Given the description of an element on the screen output the (x, y) to click on. 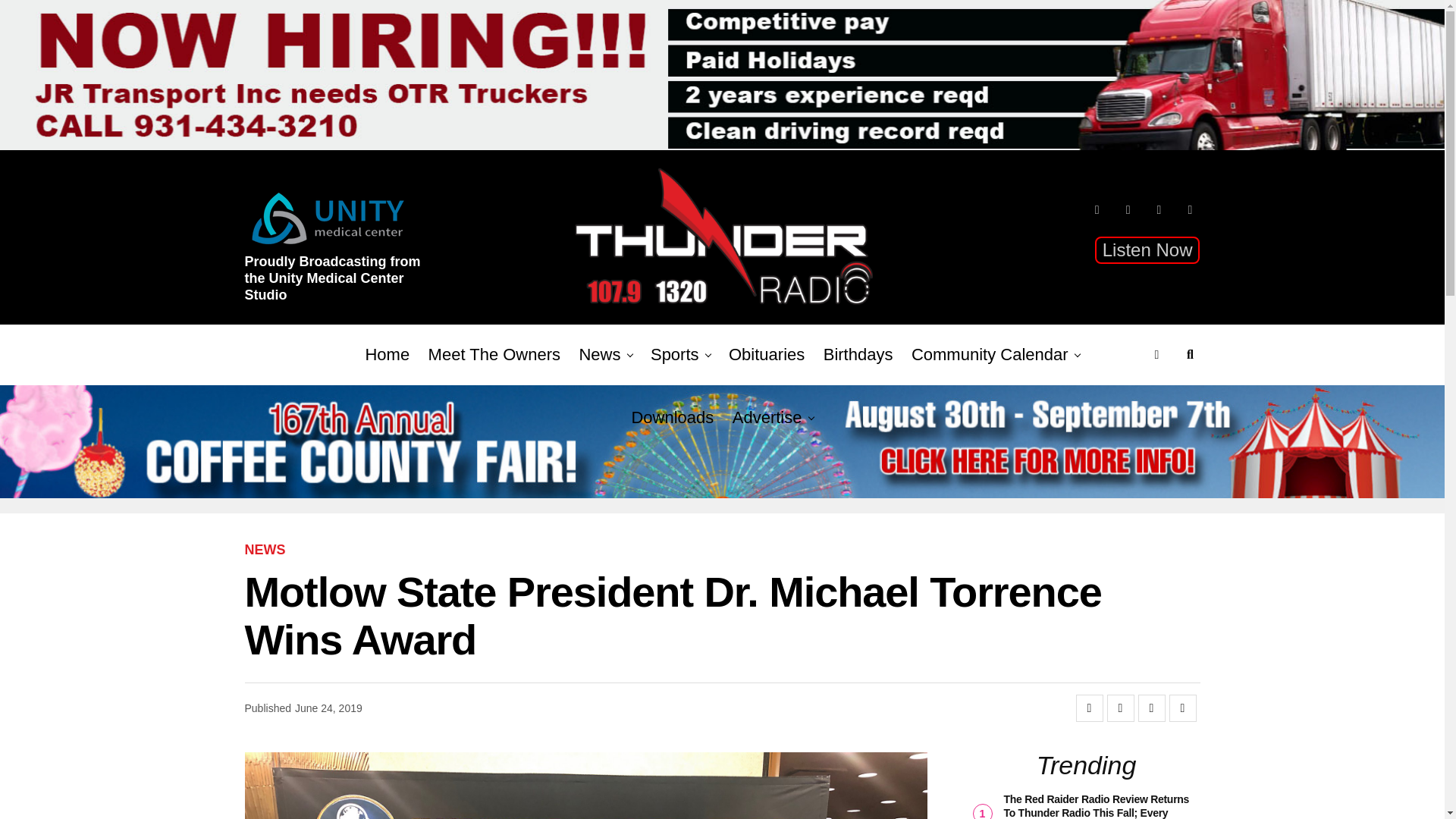
Tweet This Post (1120, 707)
Meet The Owners (493, 354)
News (598, 354)
Sports (674, 354)
Proudly Broadcasting from the Unity Medical Center Studio (338, 284)
Home (386, 354)
Listen Now (1146, 249)
Share on Facebook (1088, 707)
